Given the description of an element on the screen output the (x, y) to click on. 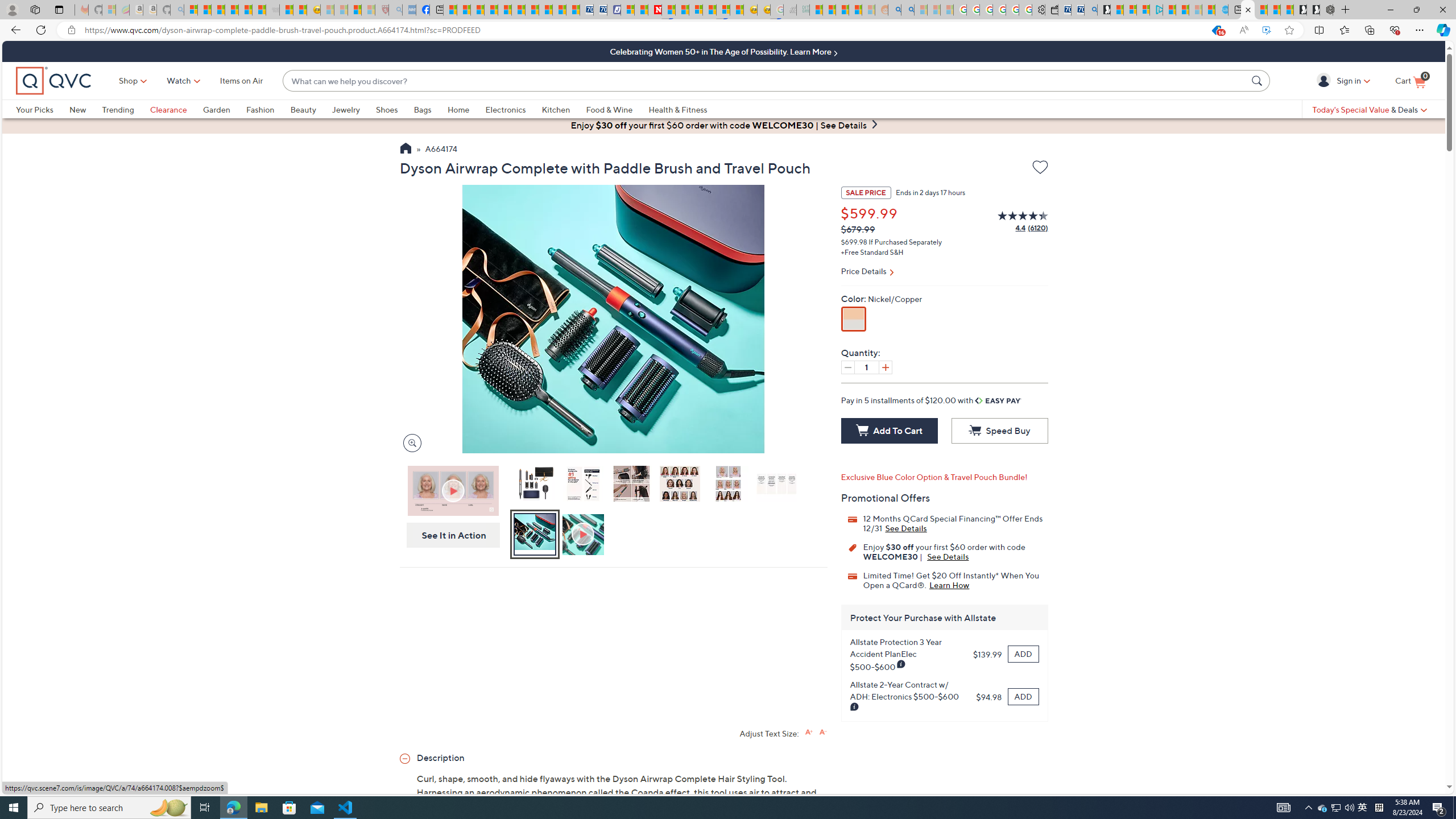
NCL Adult Asthma Inhaler Choice Guideline - Sleeping (408, 9)
Health & Fitness (677, 109)
QVC home (53, 80)
Home (458, 109)
Stocks - MSN (258, 9)
Utah sues federal government - Search (907, 9)
list of asthma inhalers uk - Search - Sleeping (395, 9)
Navy Quest (789, 9)
Today's Special Value & Deals (1369, 109)
